Given the description of an element on the screen output the (x, y) to click on. 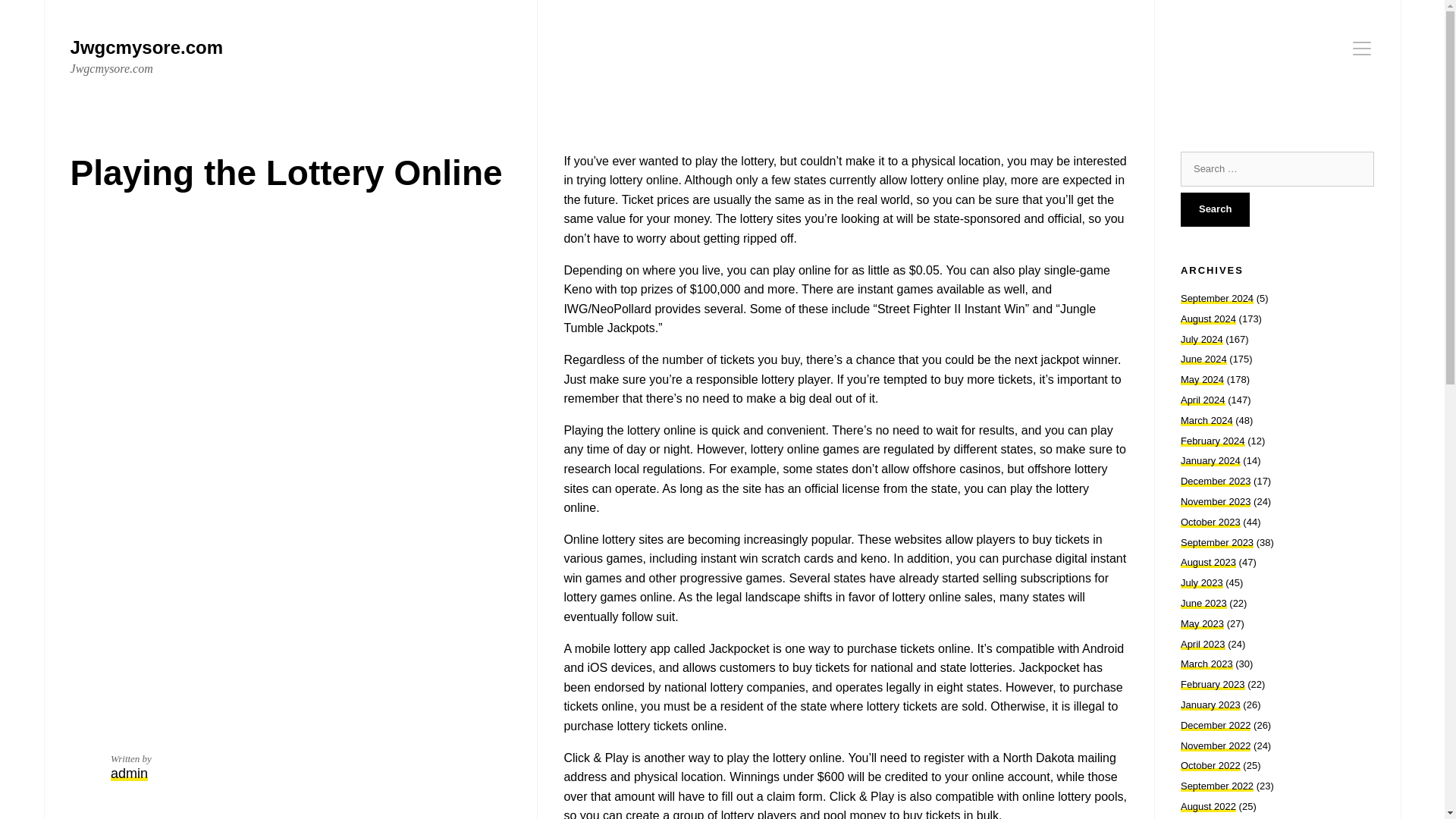
January 2024 (1210, 460)
August 2022 (1208, 806)
June 2024 (1203, 358)
April 2024 (1202, 399)
December 2023 (1215, 480)
July 2024 (1201, 338)
August 2023 (1208, 562)
April 2023 (1202, 644)
admin (145, 57)
